Given the description of an element on the screen output the (x, y) to click on. 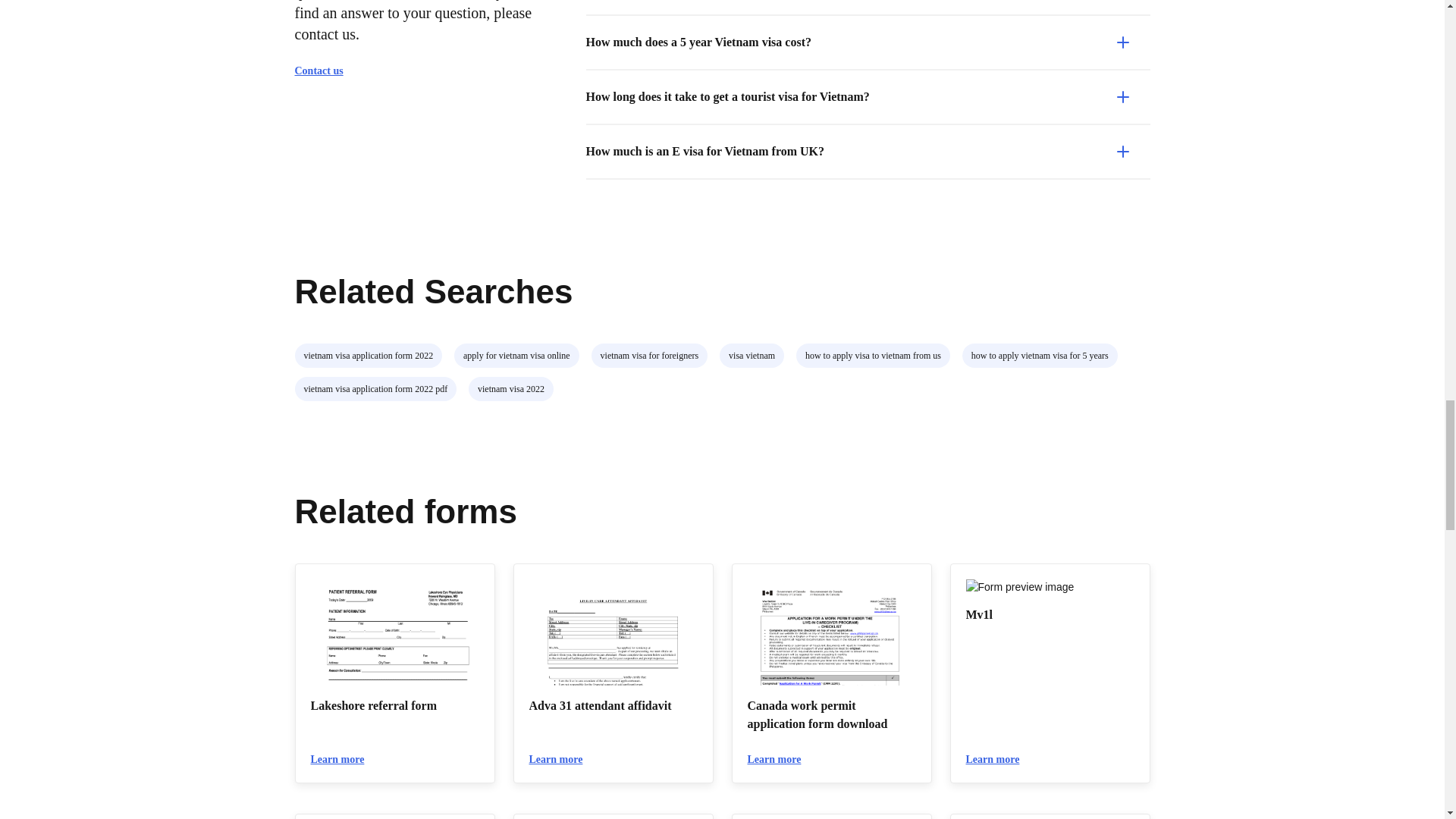
Contact us (325, 70)
Learn more (999, 759)
Learn more (562, 759)
Learn more (344, 759)
Learn more (781, 759)
